Given the description of an element on the screen output the (x, y) to click on. 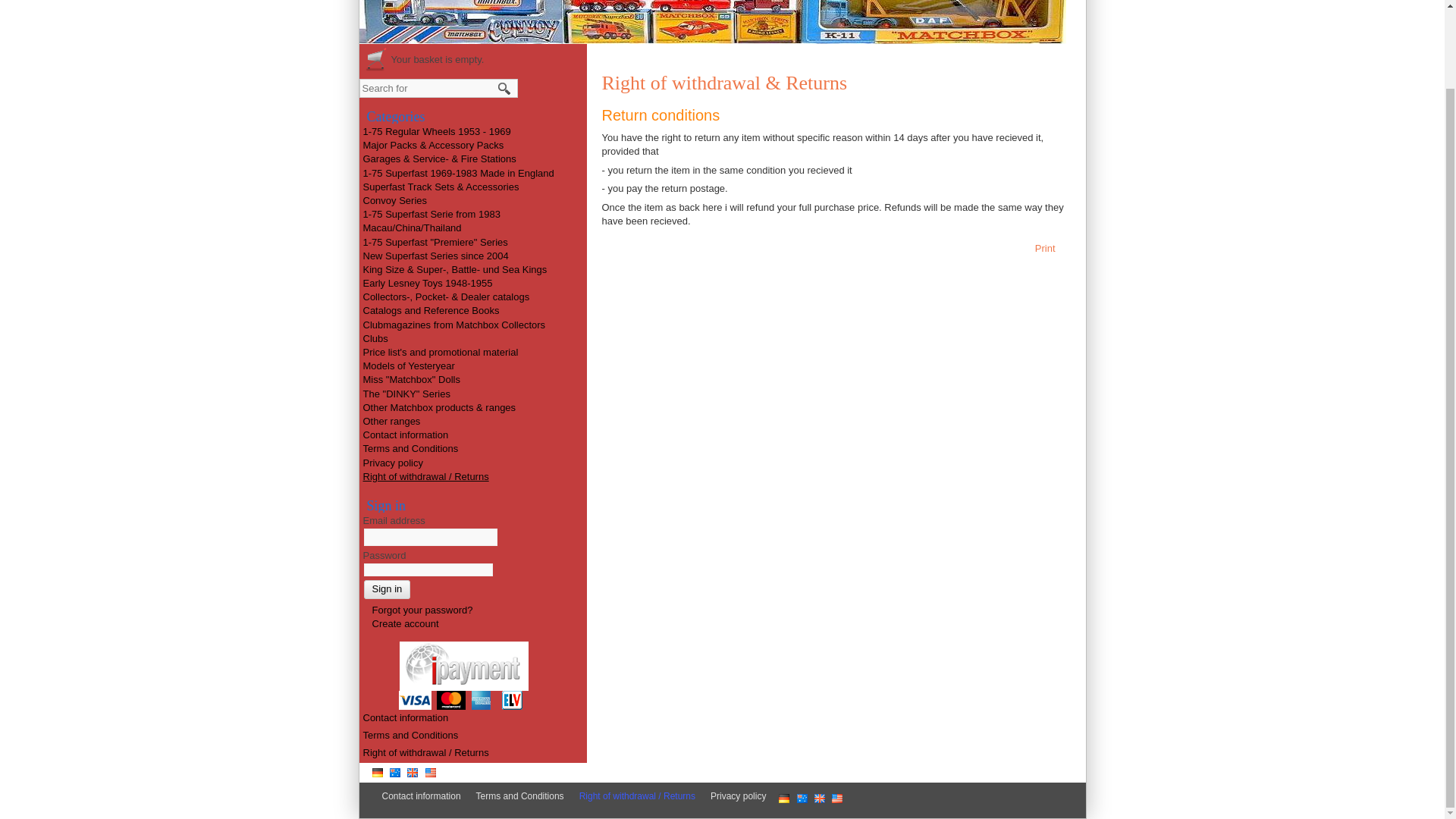
This shop supports payment using Visa. (414, 700)
Contact information (424, 796)
Terms and Conditions (410, 735)
Contact information (405, 717)
ipayment (462, 666)
Price list's and promotional material (440, 351)
New Superfast Series since 2004 (435, 255)
Models of Yesteryear (408, 365)
Miss "Matchbox" Dolls (411, 378)
Start search (504, 88)
Print (1052, 248)
Privacy policy (392, 461)
Terms and Conditions (410, 448)
1-75 Superfast 1969-1983 Made in England (457, 173)
The "DINKY" Series (405, 393)
